Given the description of an element on the screen output the (x, y) to click on. 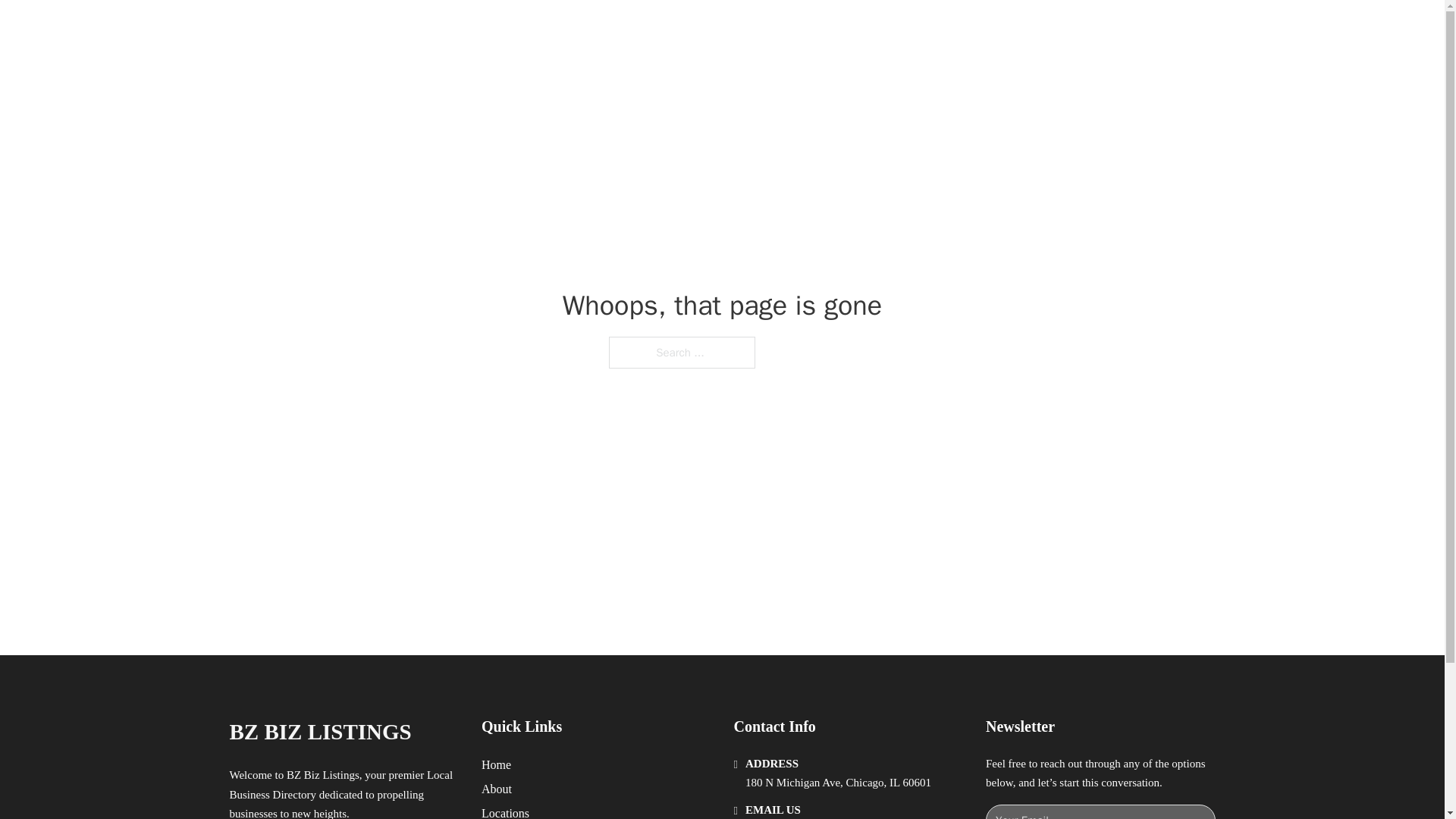
Home (496, 764)
Locations (505, 811)
LOCATIONS (990, 29)
HOME (919, 29)
About (496, 788)
BZ BIZ LISTINGS (394, 28)
BZ BIZ LISTINGS (319, 732)
